Given the description of an element on the screen output the (x, y) to click on. 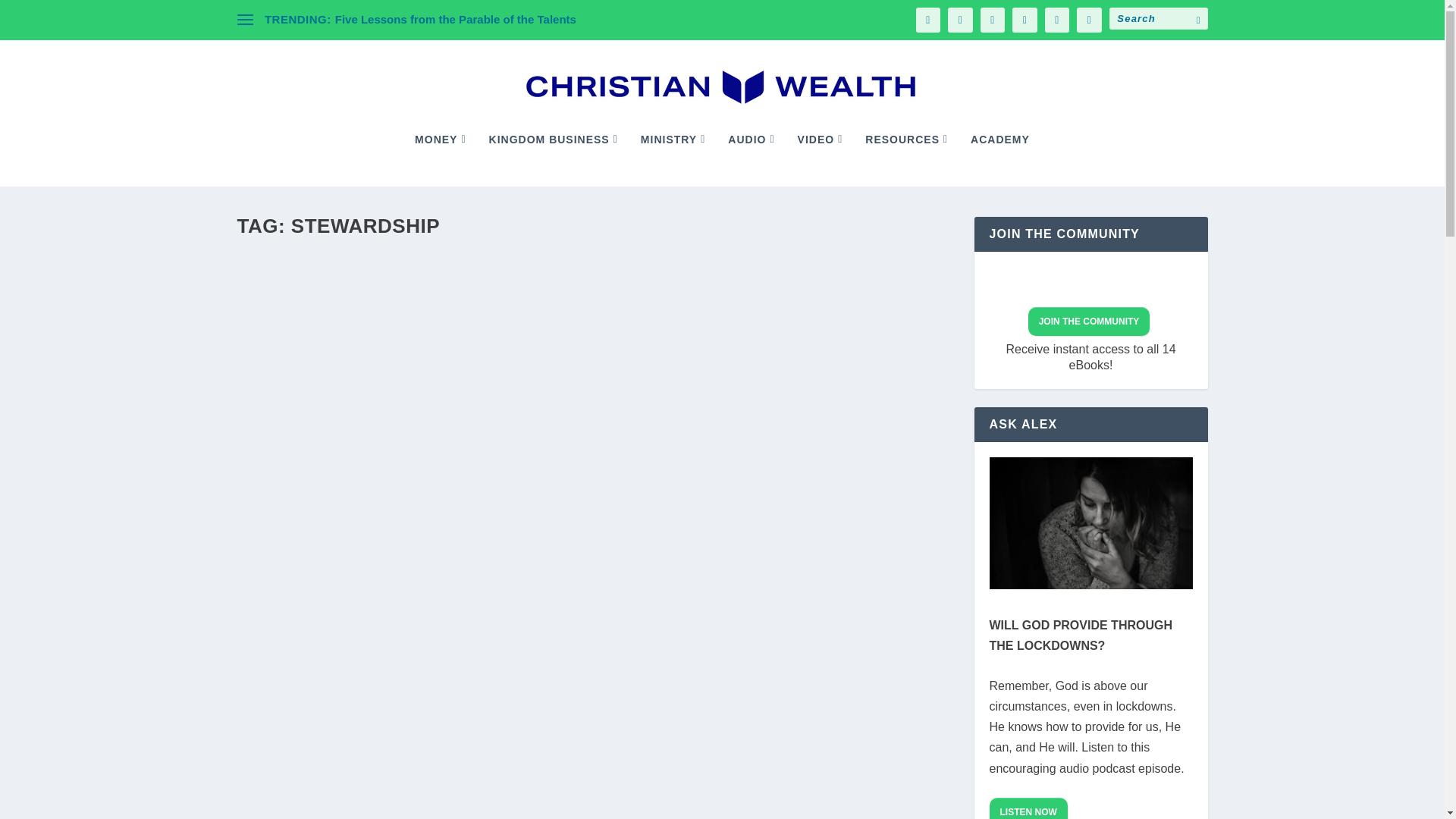
Search for: (1157, 18)
MONEY (439, 159)
Five Lessons from the Parable of the Talents (455, 19)
KINGDOM BUSINESS (553, 159)
